Given the description of an element on the screen output the (x, y) to click on. 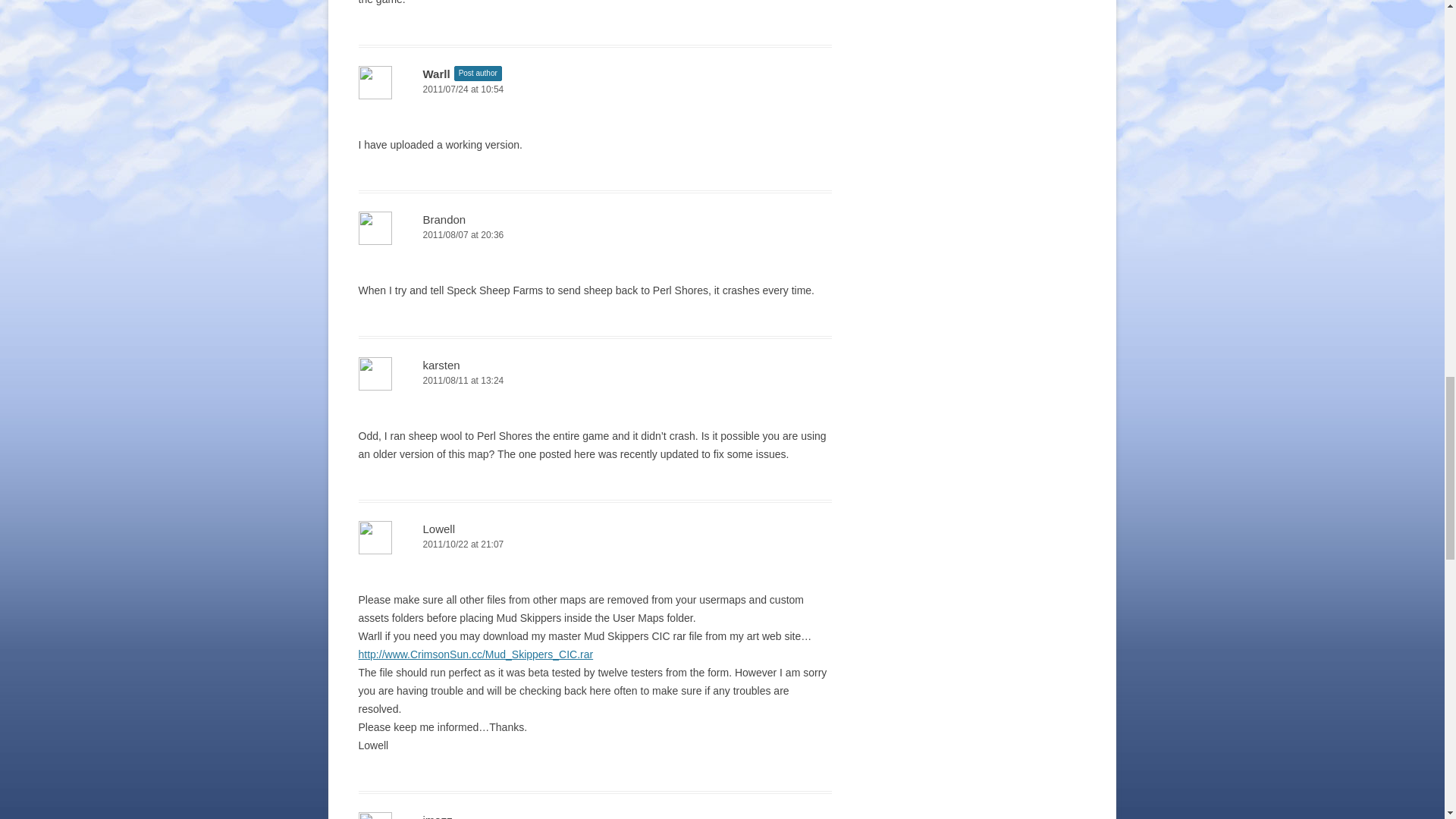
Lowell (439, 528)
Warll (436, 73)
